Given the description of an element on the screen output the (x, y) to click on. 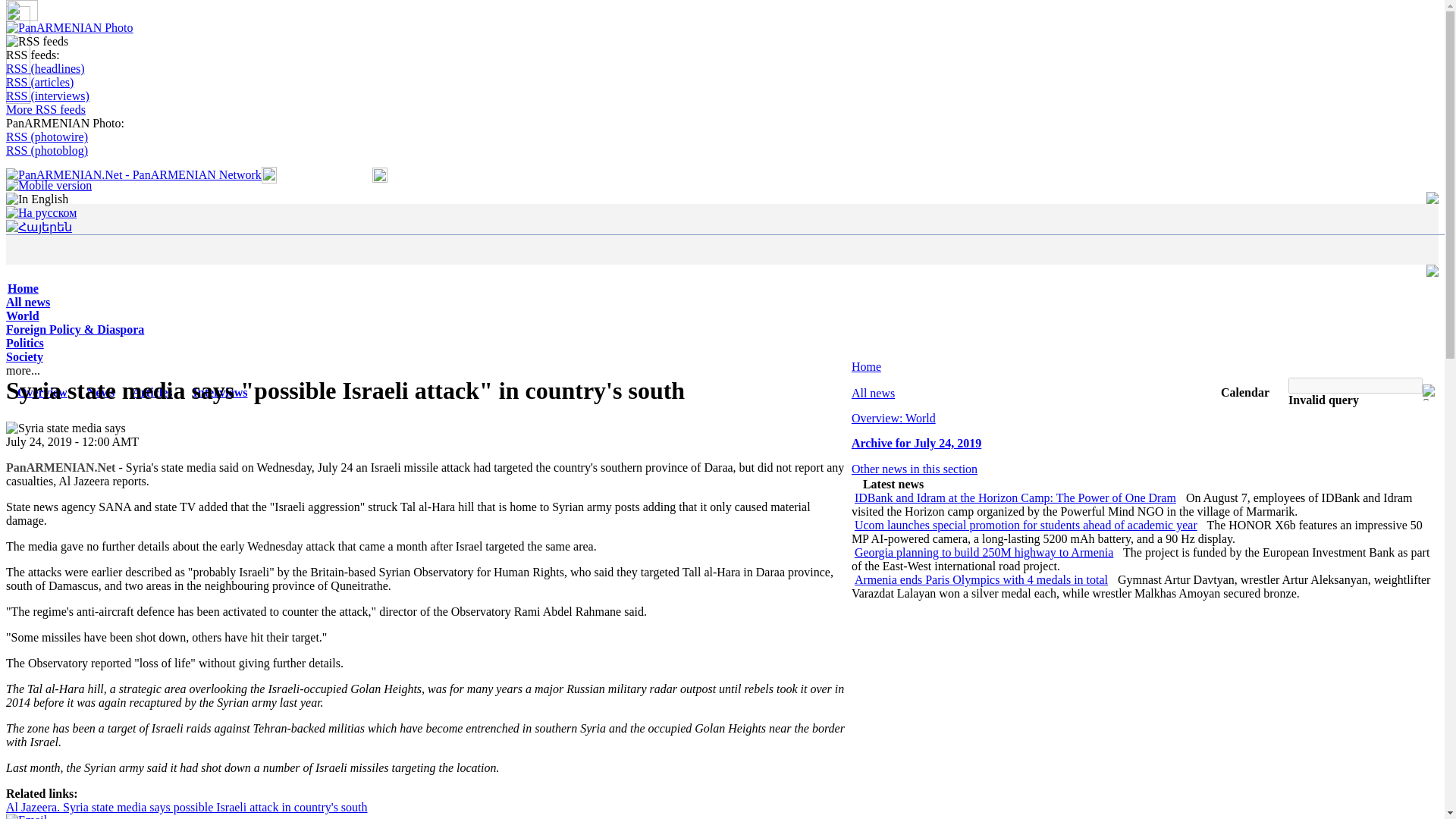
Syria state media says  (65, 427)
Politics (24, 342)
Articles (151, 391)
Calendar (1245, 391)
World (22, 315)
More RSS feeds (45, 109)
more... (26, 369)
Home (23, 287)
Overview (41, 391)
Interviews (219, 391)
